Given the description of an element on the screen output the (x, y) to click on. 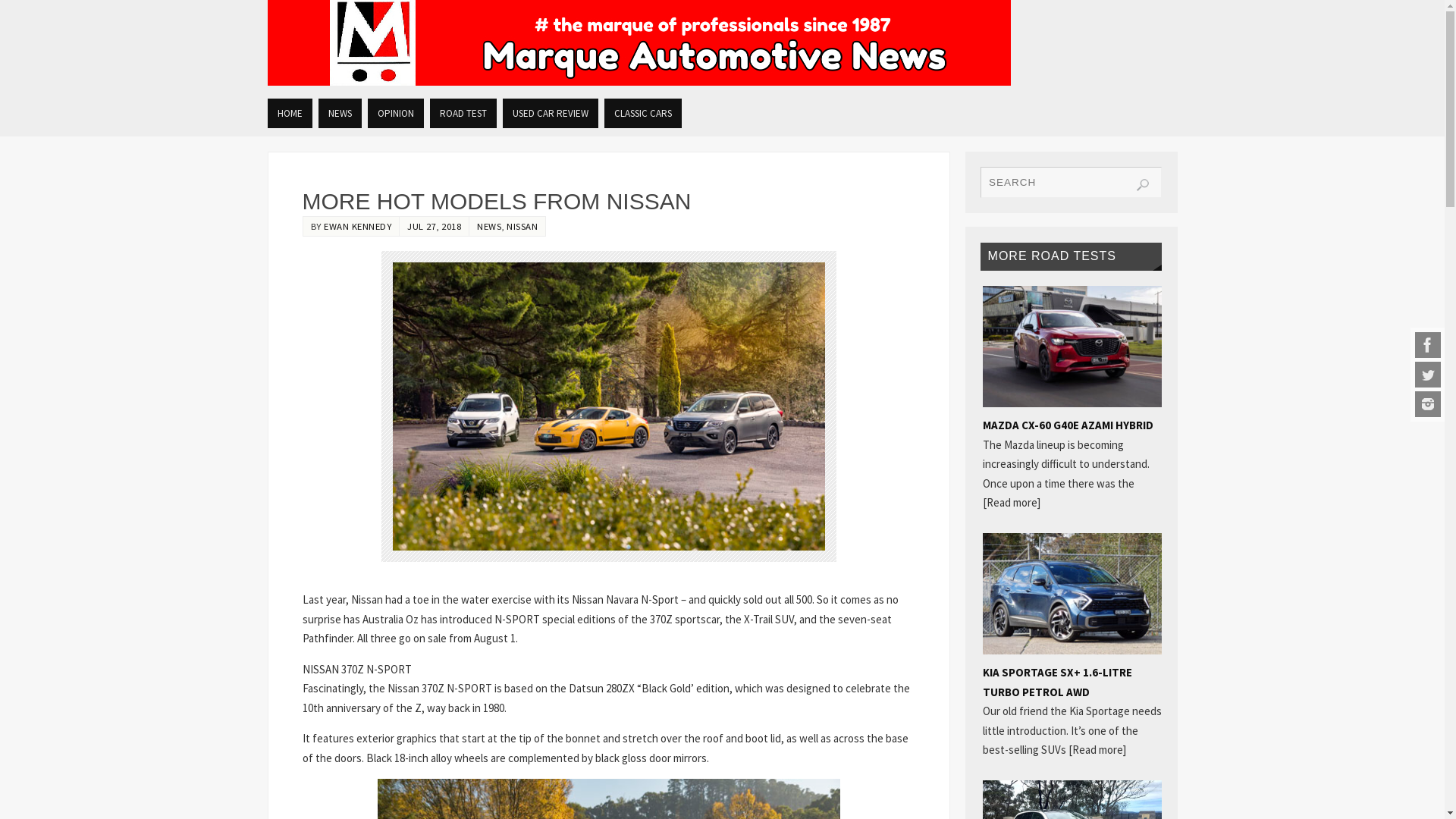
Twitter Element type: hover (1427, 374)
ROAD TEST Element type: text (462, 113)
NEWS Element type: text (339, 113)
CLASSIC CARS Element type: text (641, 113)
JUL 27, 2018 Element type: text (434, 225)
OPINION Element type: text (395, 113)
HOME Element type: text (288, 113)
KIA SPORTAGE SX+ 1.6-LITRE TURBO PETROL AWD Element type: text (1057, 682)
MAZDA CX-60 G40E AZAMI HYBRID Element type: text (1067, 424)
EWAN KENNEDY Element type: text (357, 225)
NISSAN Element type: text (521, 225)
NEWS Element type: text (488, 225)
USED CAR REVIEW Element type: text (549, 113)
Facebook Element type: hover (1427, 344)
Instagram Element type: hover (1427, 404)
